Given the description of an element on the screen output the (x, y) to click on. 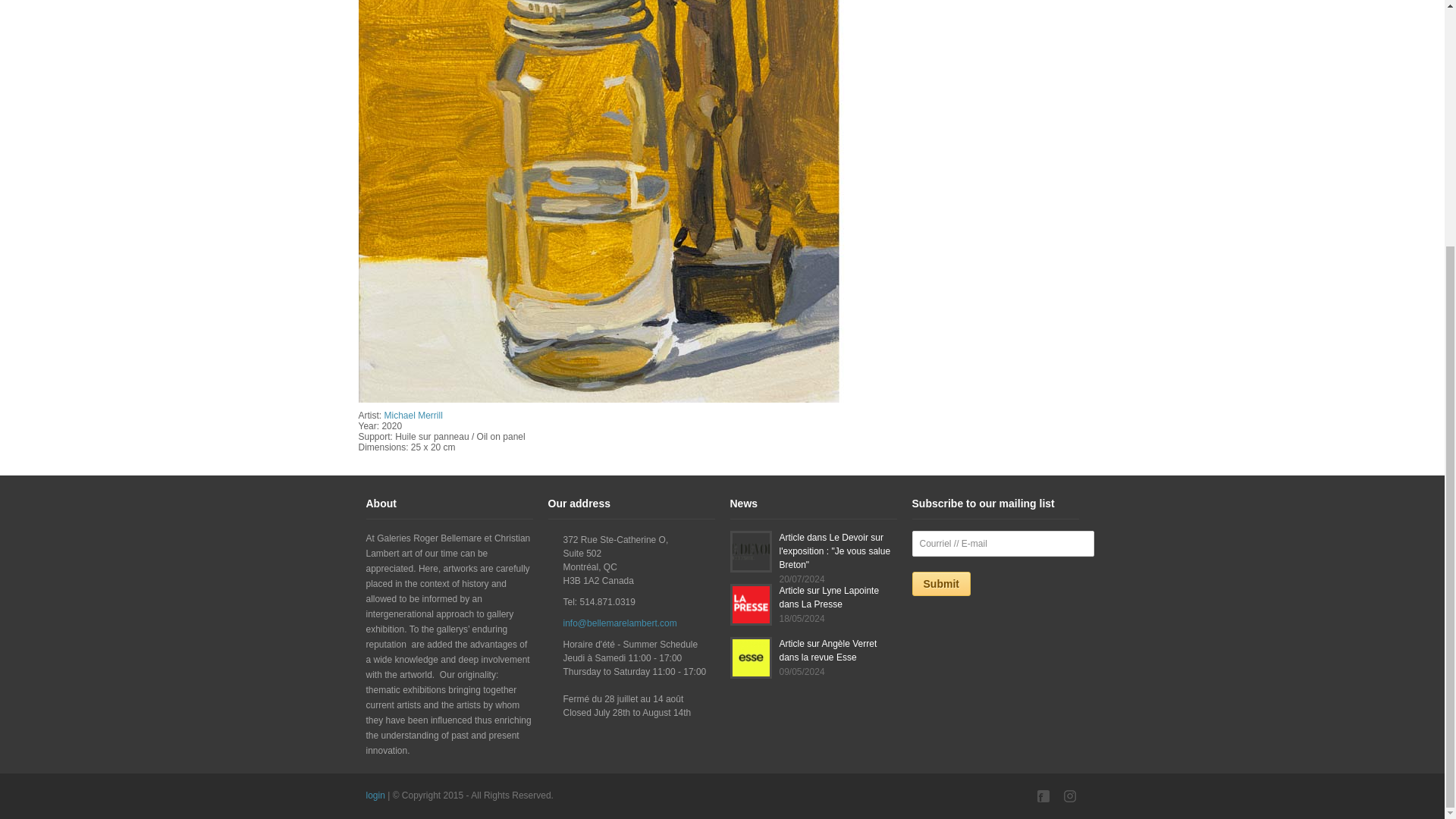
Michael Merrill (413, 415)
Submit (940, 583)
Submit (940, 583)
Facebook (1044, 796)
login (374, 795)
Article sur Lyne Lapointe dans La Presse (828, 597)
Instagram (1070, 796)
